Given the description of an element on the screen output the (x, y) to click on. 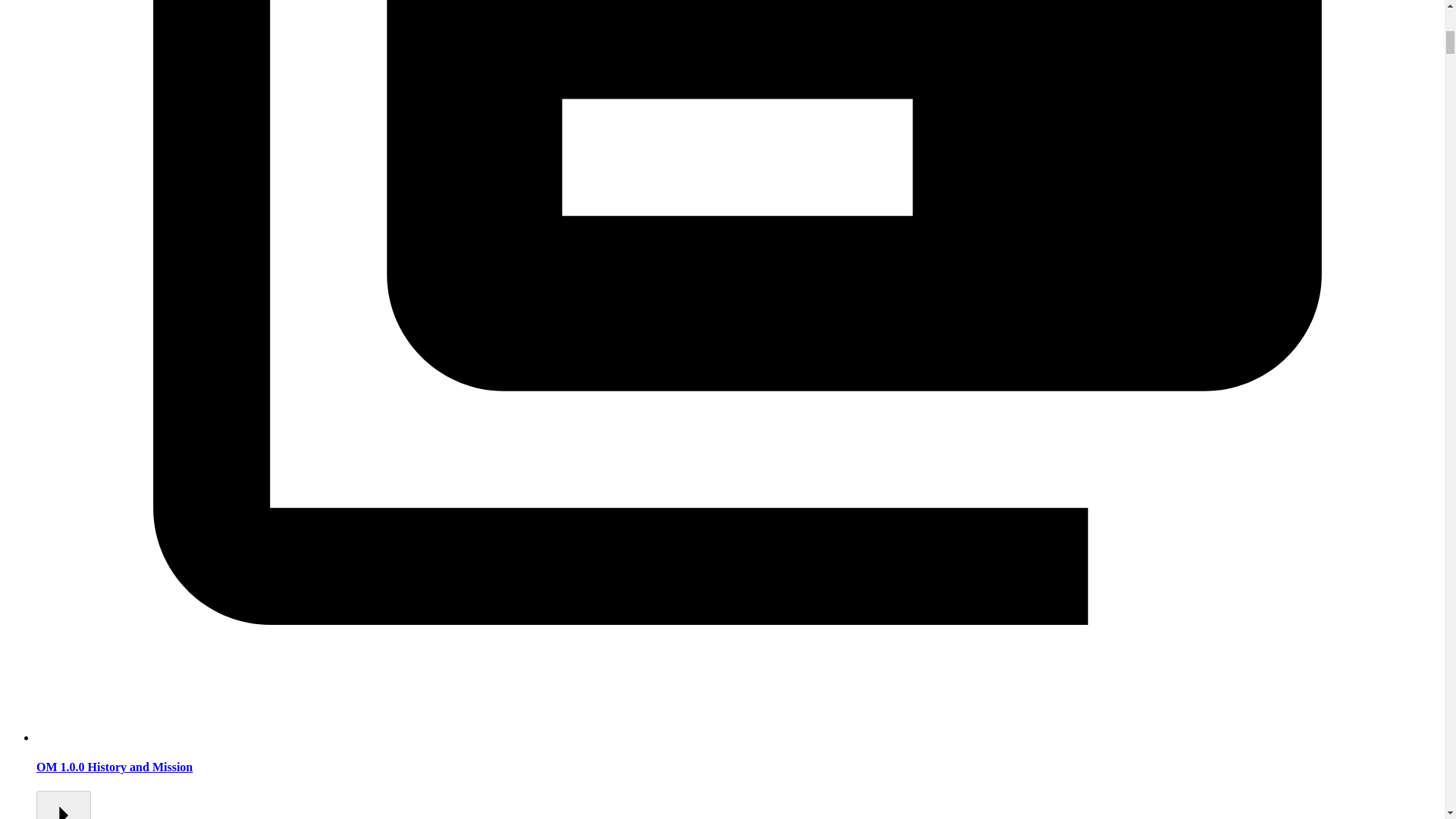
3 Pages (63, 805)
